Given the description of an element on the screen output the (x, y) to click on. 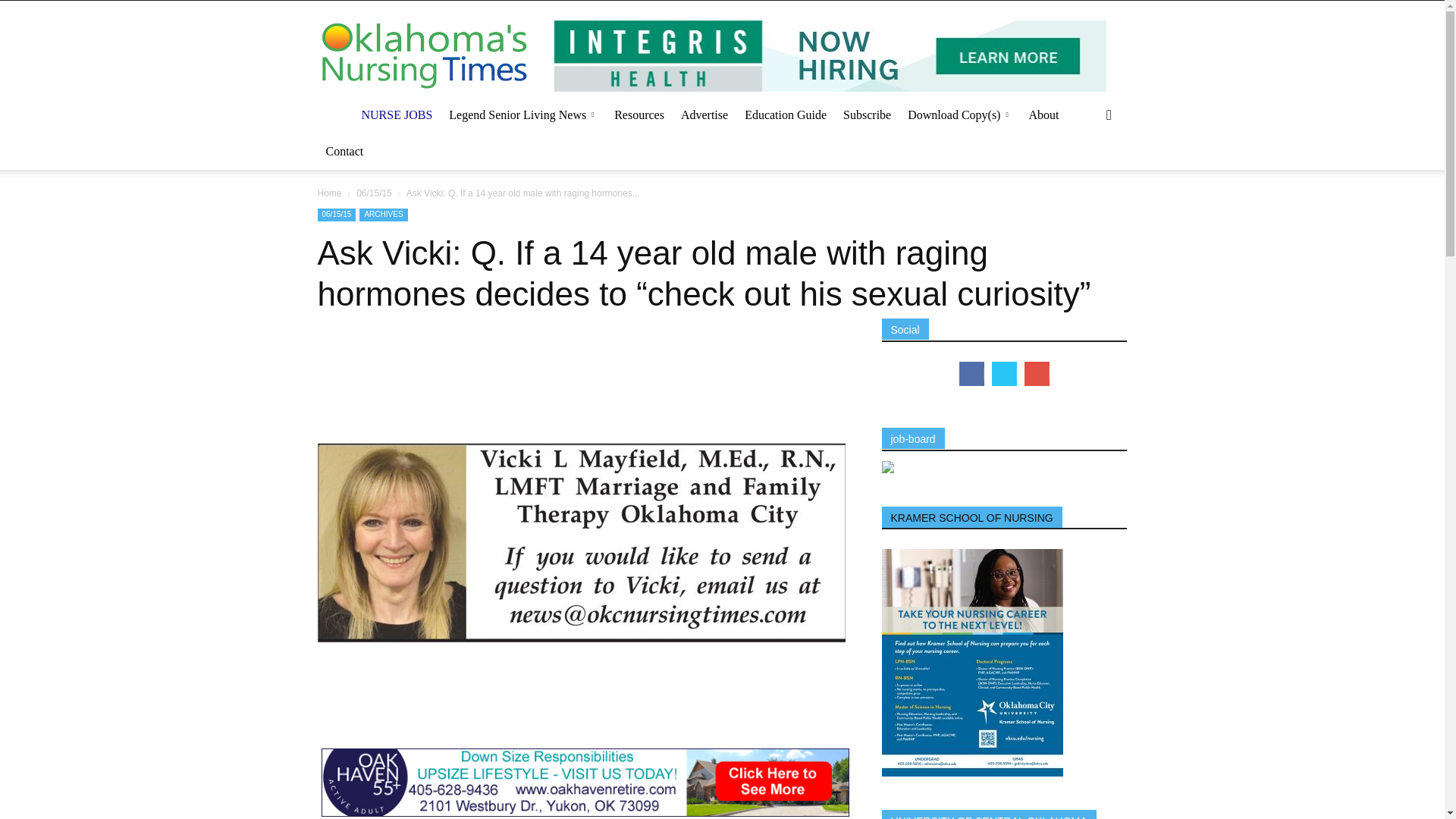
Subscribe (866, 115)
Advertise (704, 115)
About (1043, 115)
Search (1085, 175)
Legend Senior Living News (517, 115)
Home (328, 193)
ARCHIVES (383, 214)
Resources (638, 115)
NURSE JOBS (397, 115)
Contact (344, 151)
Education Guide (785, 115)
